Given the description of an element on the screen output the (x, y) to click on. 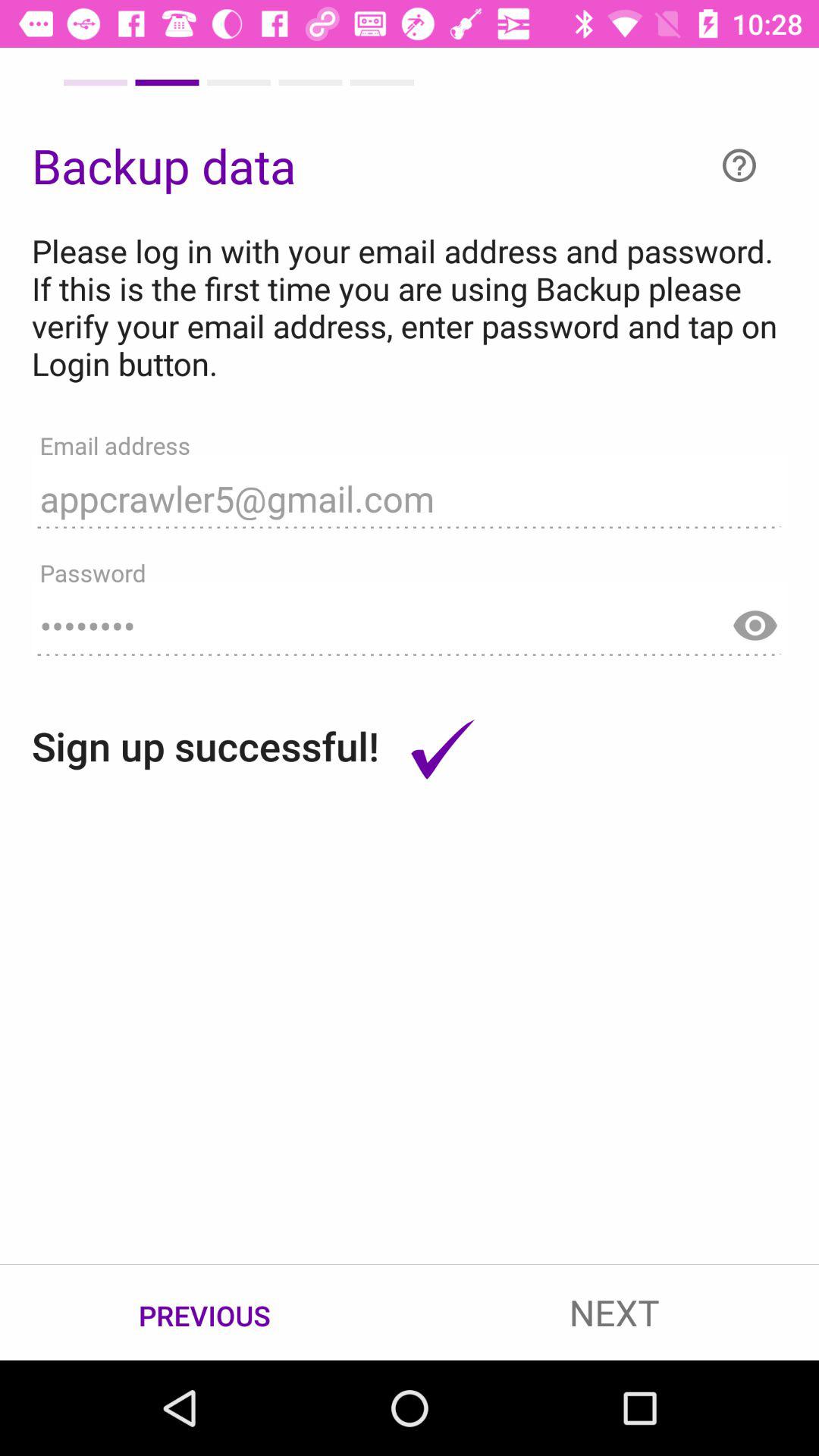
tap the item below the please log in item (409, 491)
